Given the description of an element on the screen output the (x, y) to click on. 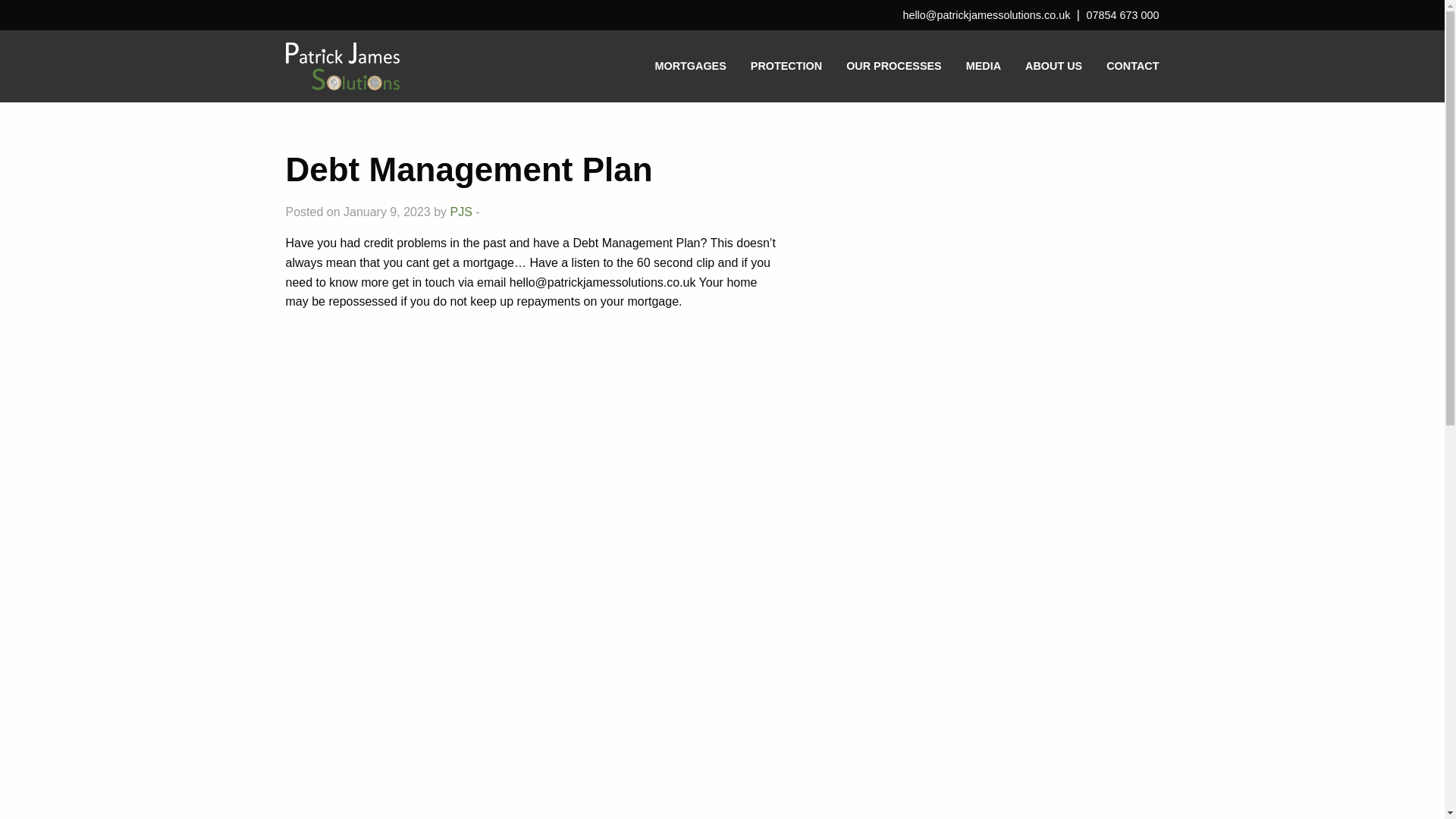
Posts by PJS (460, 211)
